Given the description of an element on the screen output the (x, y) to click on. 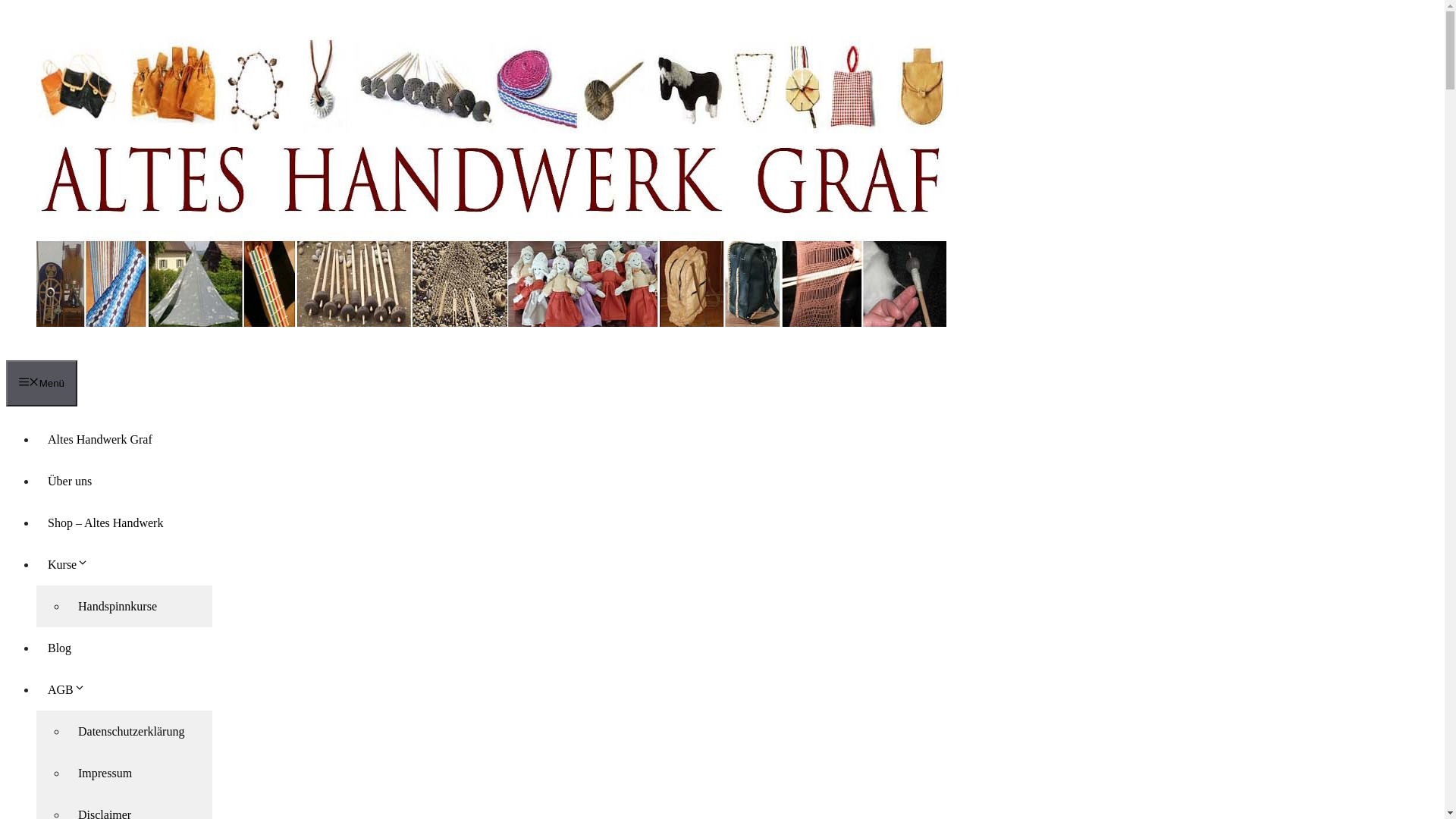
Zum Inhalt springen Element type: text (5, 5)
Kurse Element type: text (73, 564)
Altes Handwerk Graf Element type: text (99, 439)
AGB Element type: text (72, 689)
Handspinnkurse Element type: text (117, 606)
Blog Element type: text (59, 647)
Impressum Element type: text (104, 773)
